Given the description of an element on the screen output the (x, y) to click on. 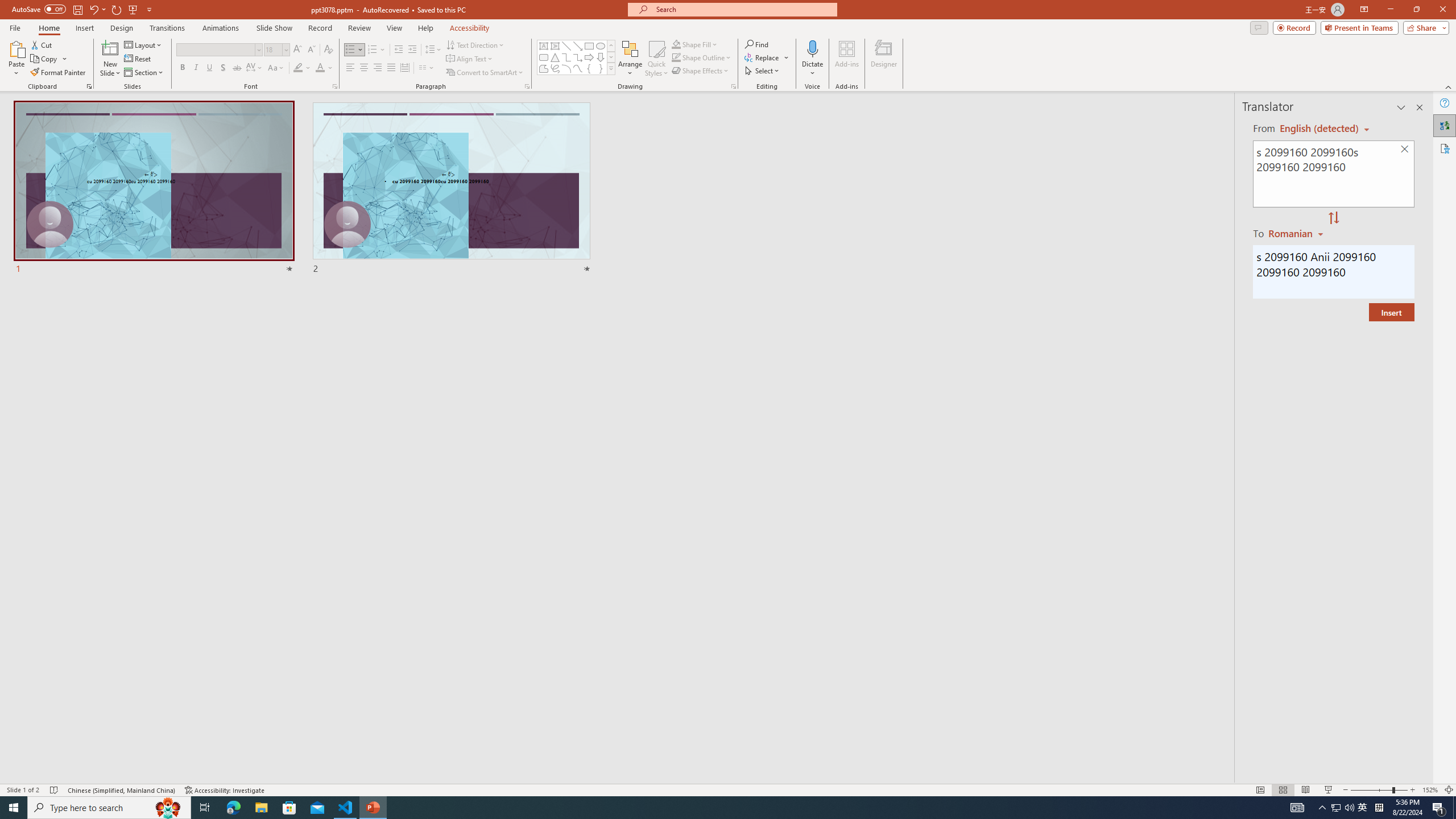
Shape Outline Green, Accent 1 (675, 56)
